Given the description of an element on the screen output the (x, y) to click on. 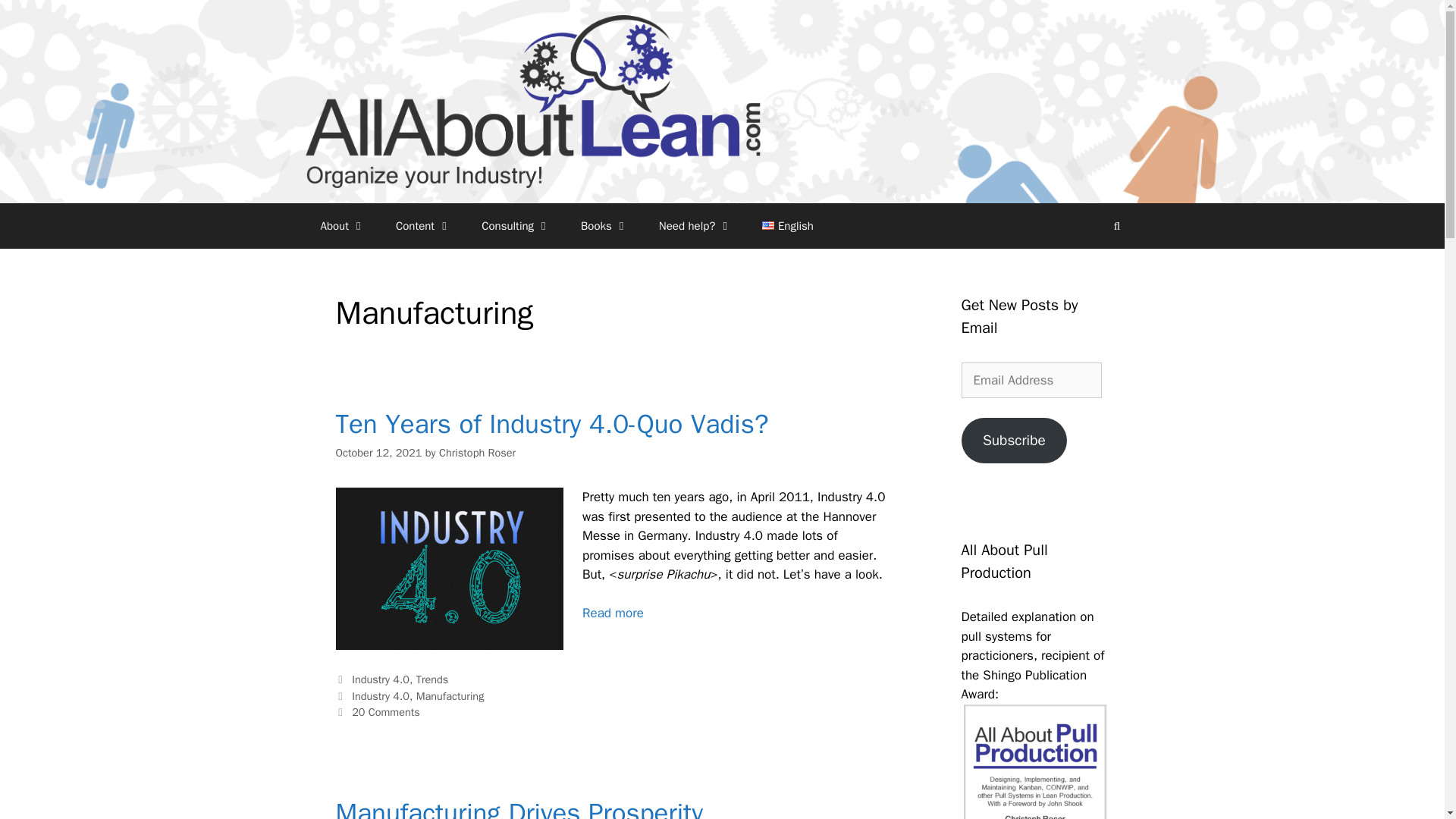
View all posts by Christoph Roser (477, 452)
Books (604, 225)
English (787, 225)
Content (422, 225)
Ten Years of Industry 4.0-Quo Vadis? (551, 423)
Consulting (515, 225)
Read more (612, 612)
Christoph Roser (477, 452)
Trends (432, 679)
Ten Years of Industry 4.0-Quo Vadis? (612, 612)
